Given the description of an element on the screen output the (x, y) to click on. 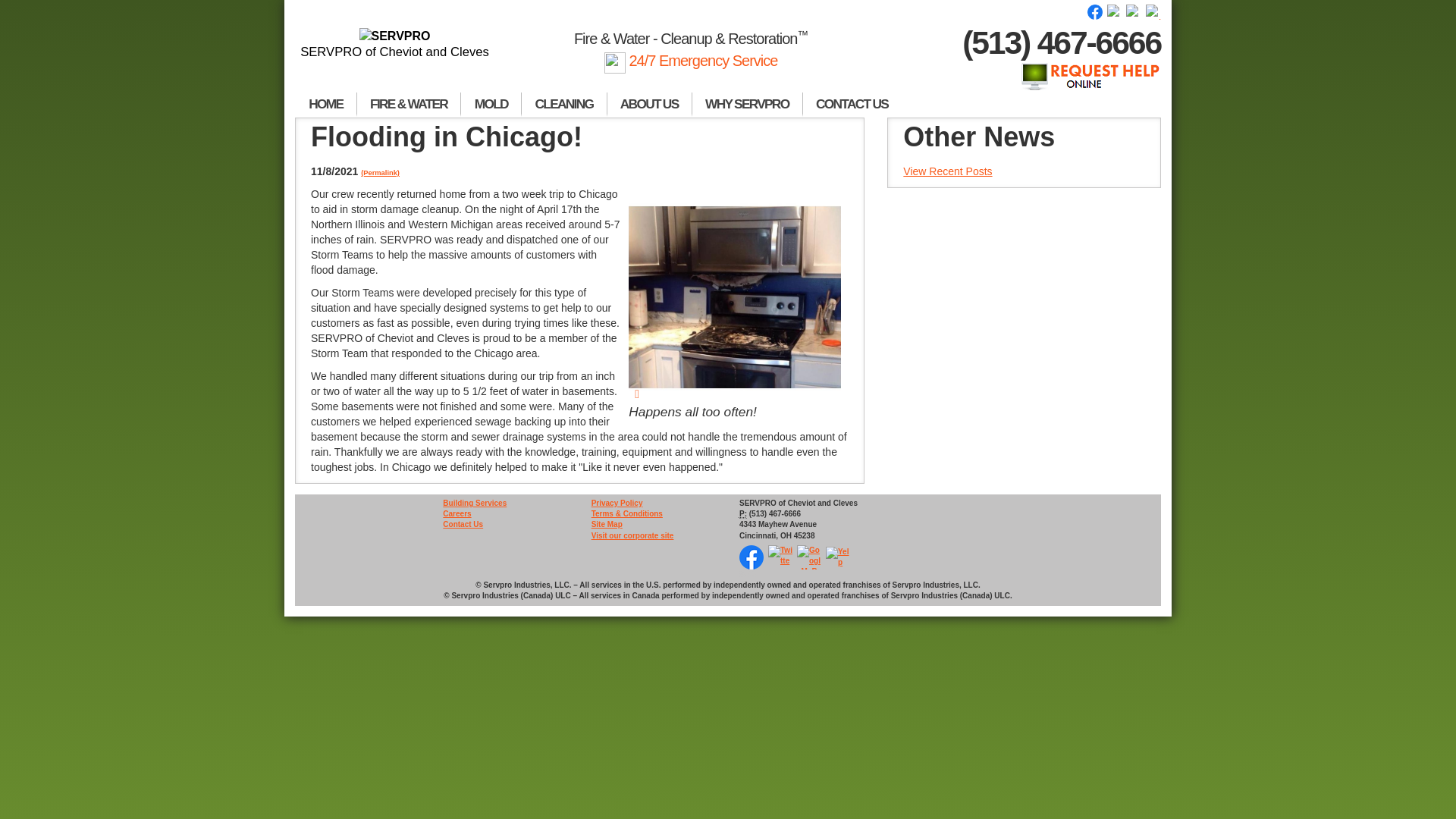
HOME (325, 104)
ABOUT US (649, 104)
SERVPRO of Cheviot and Cleves (395, 44)
MOLD (491, 104)
CLEANING (564, 104)
